Given the description of an element on the screen output the (x, y) to click on. 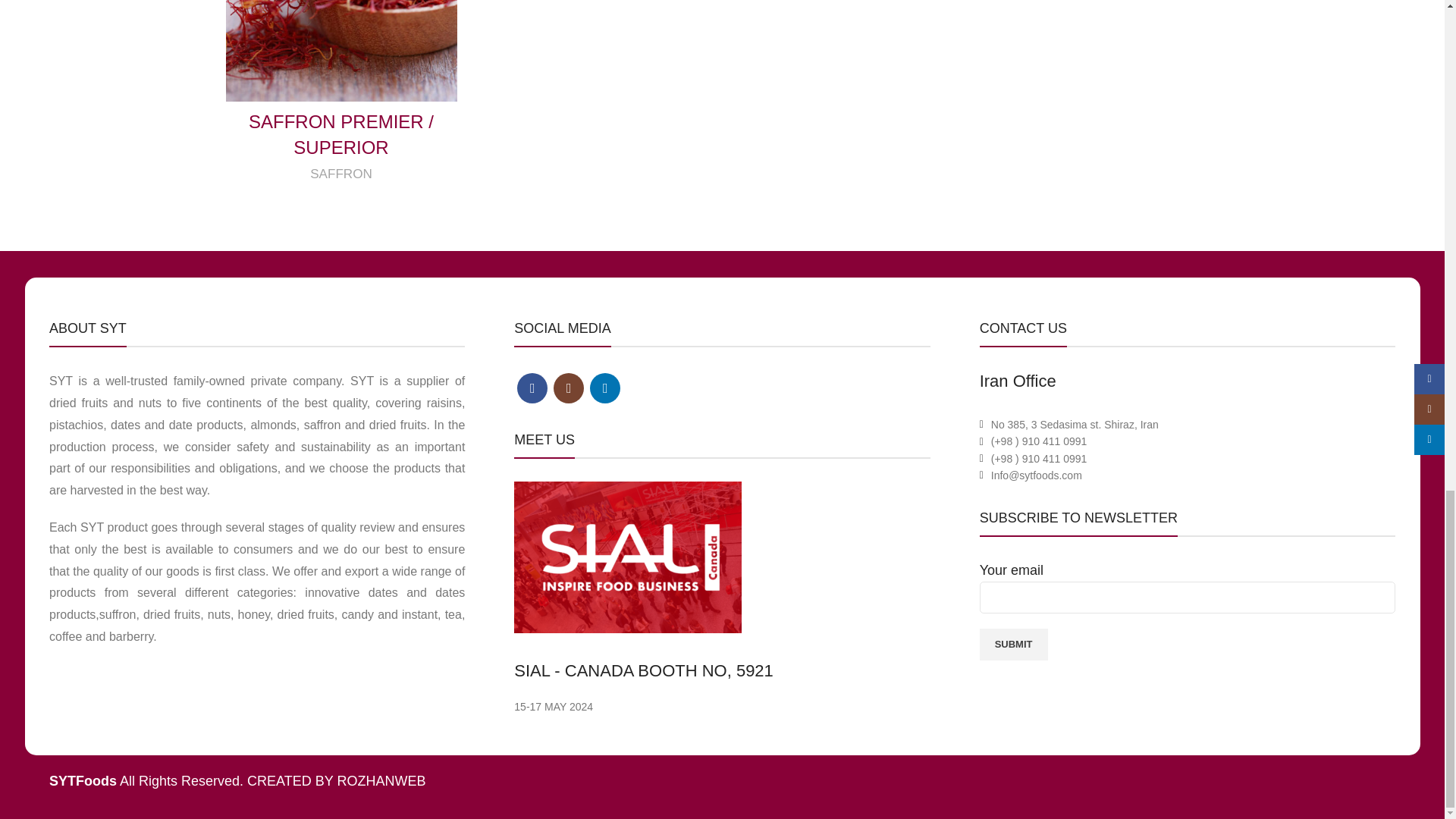
Submit (1013, 644)
